Given the description of an element on the screen output the (x, y) to click on. 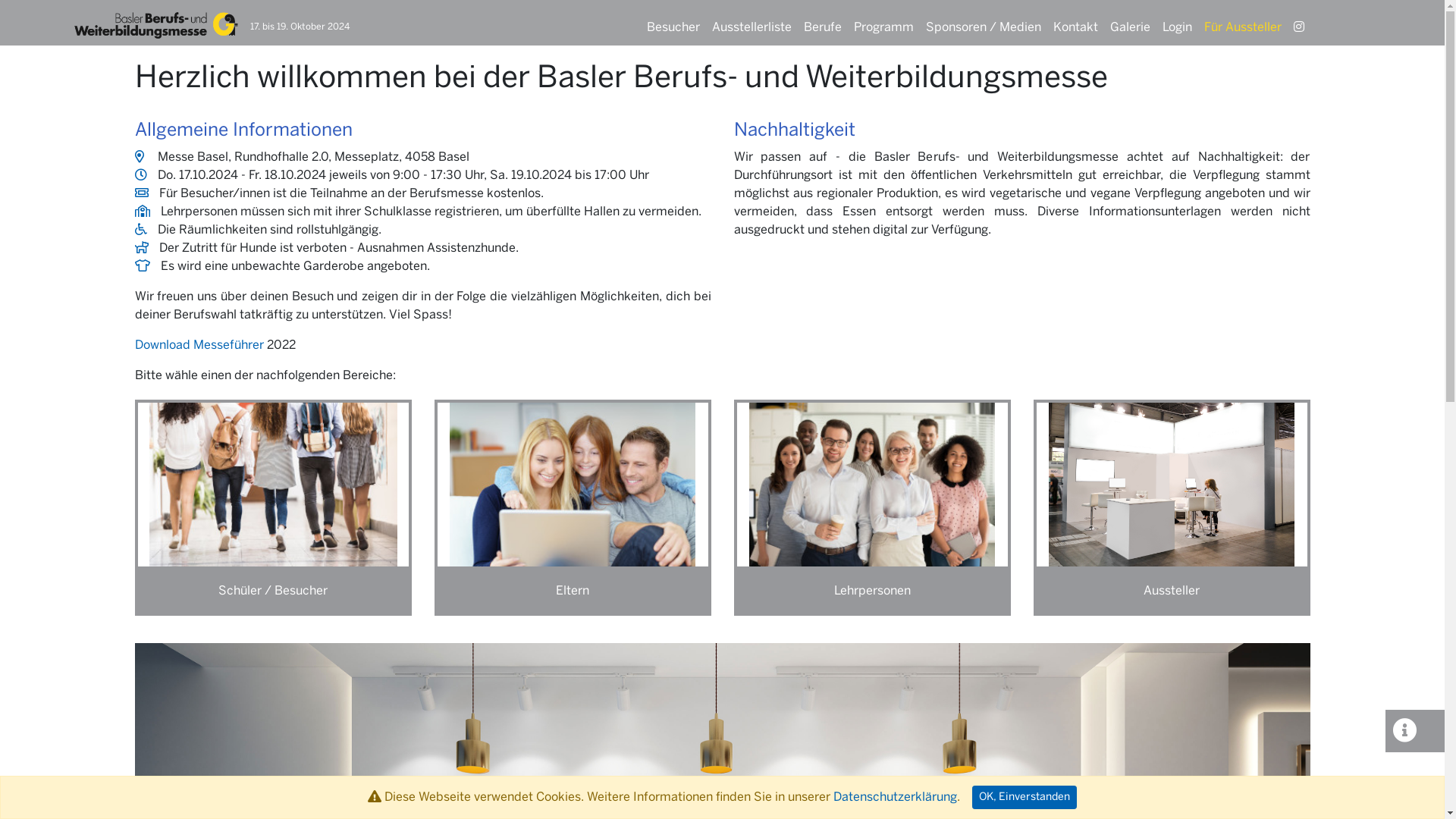
Login Element type: text (1176, 22)
Sponsoren / Medien Element type: text (982, 22)
Lehrpersonen Element type: text (872, 590)
Galerie Element type: text (1130, 22)
Eltern Element type: text (571, 590)
Aussteller Element type: text (1170, 590)
Zum Infostand Element type: hover (1413, 730)
Programm Element type: text (883, 22)
Kontakt Element type: text (1074, 22)
OK, Einverstanden Element type: text (1024, 797)
Besucher Element type: text (672, 22)
Ausstellerliste Element type: text (751, 22)
Berufe Element type: text (822, 22)
